Given the description of an element on the screen output the (x, y) to click on. 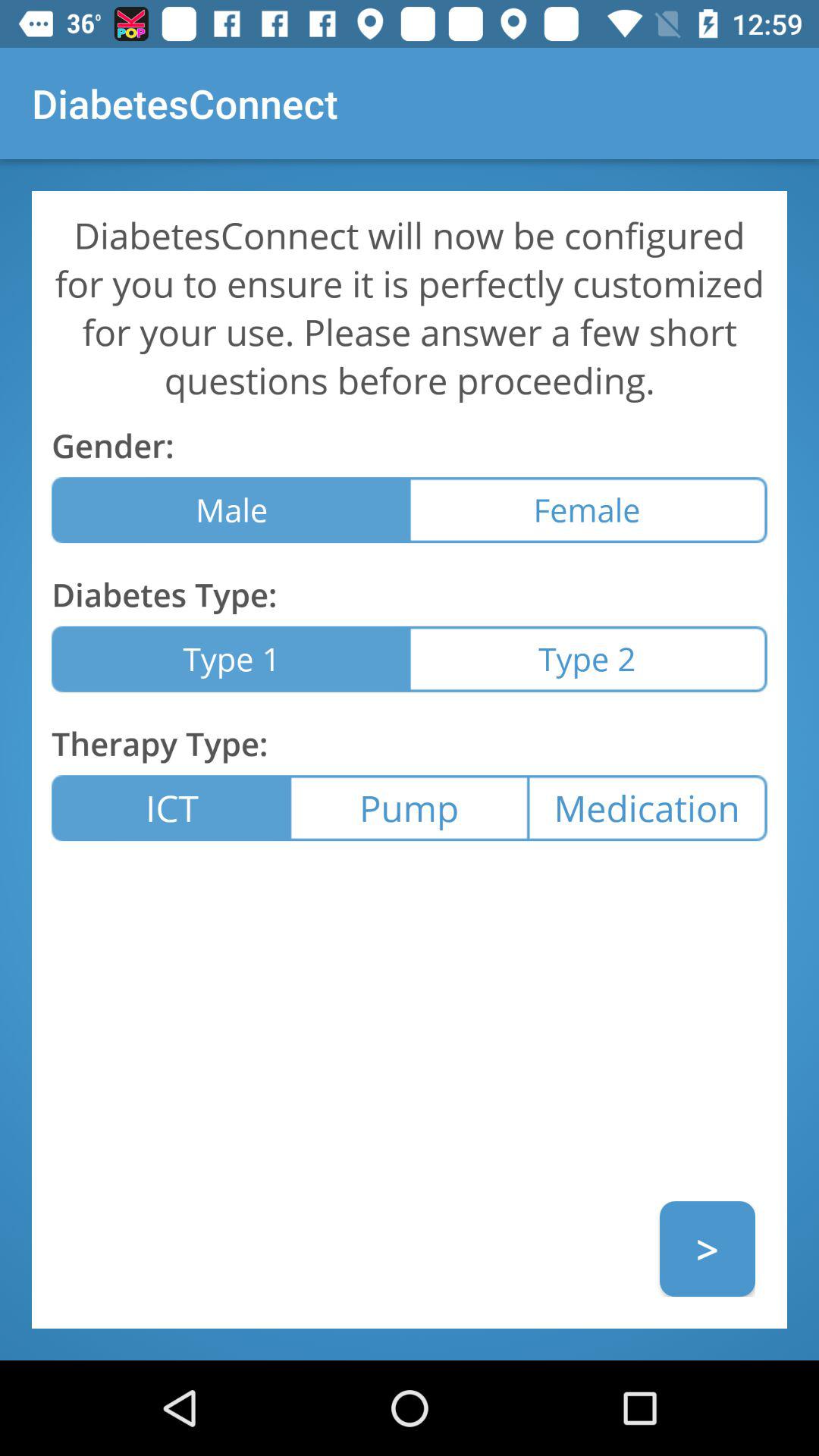
swipe until pump (409, 808)
